Given the description of an element on the screen output the (x, y) to click on. 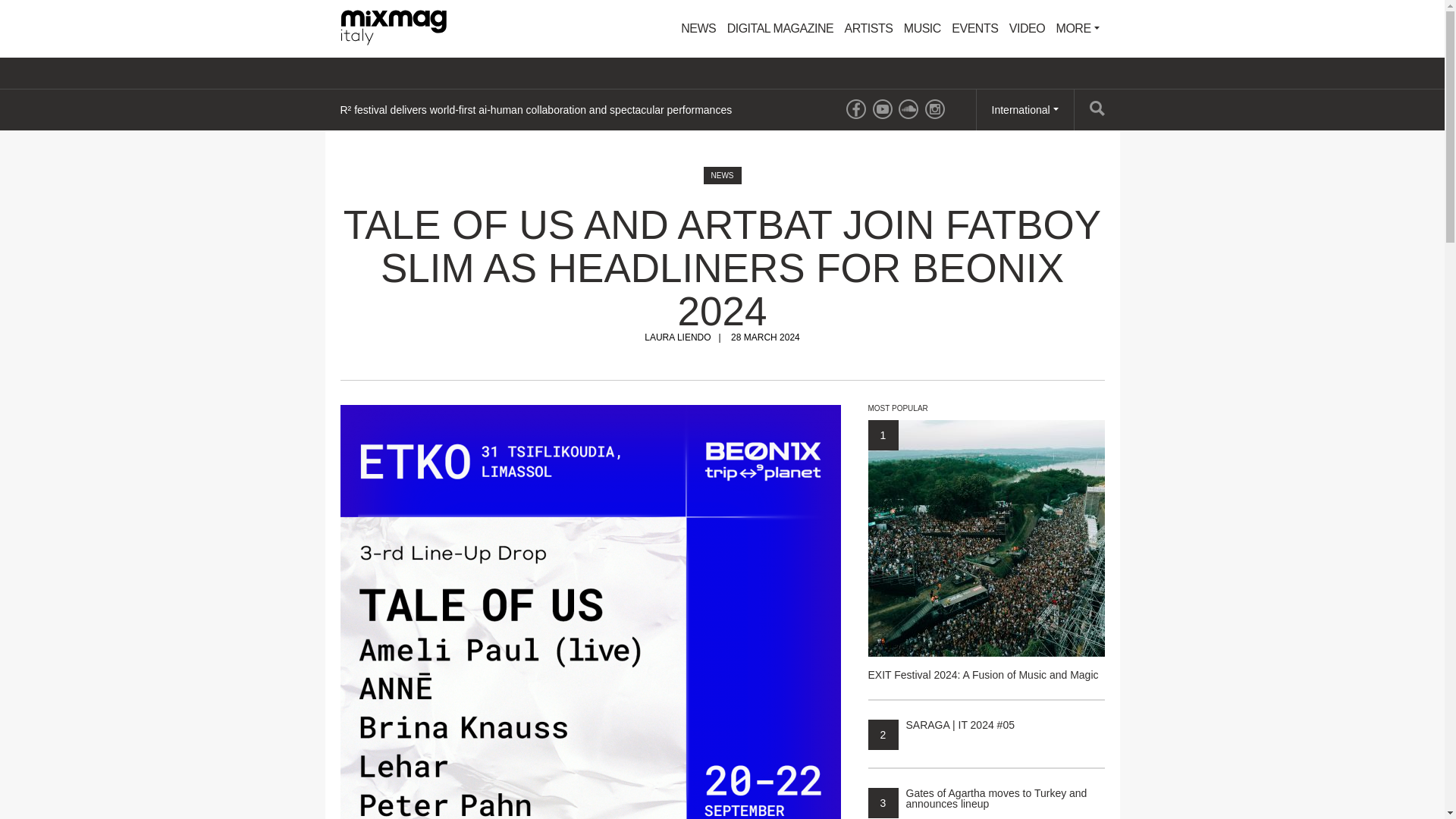
ARTISTS (869, 28)
MORE (1078, 28)
EVENTS (974, 28)
DIGITAL MAGAZINE (780, 28)
